Given the description of an element on the screen output the (x, y) to click on. 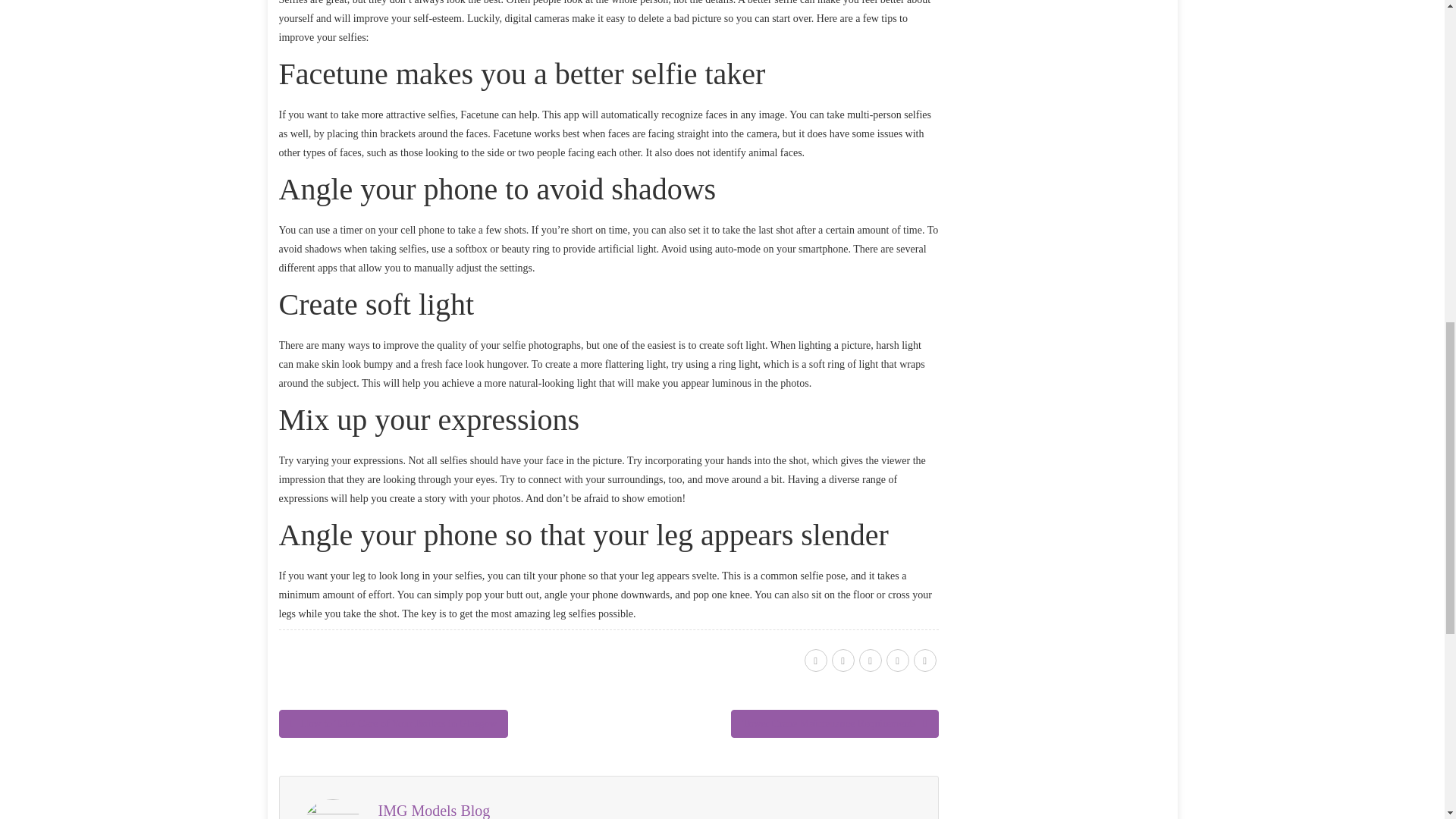
Tower Crane Maintenance Requirements (834, 723)
How to Take Care of Your Boilers in Glasgow (393, 723)
IMG Models Blog (433, 810)
